Given the description of an element on the screen output the (x, y) to click on. 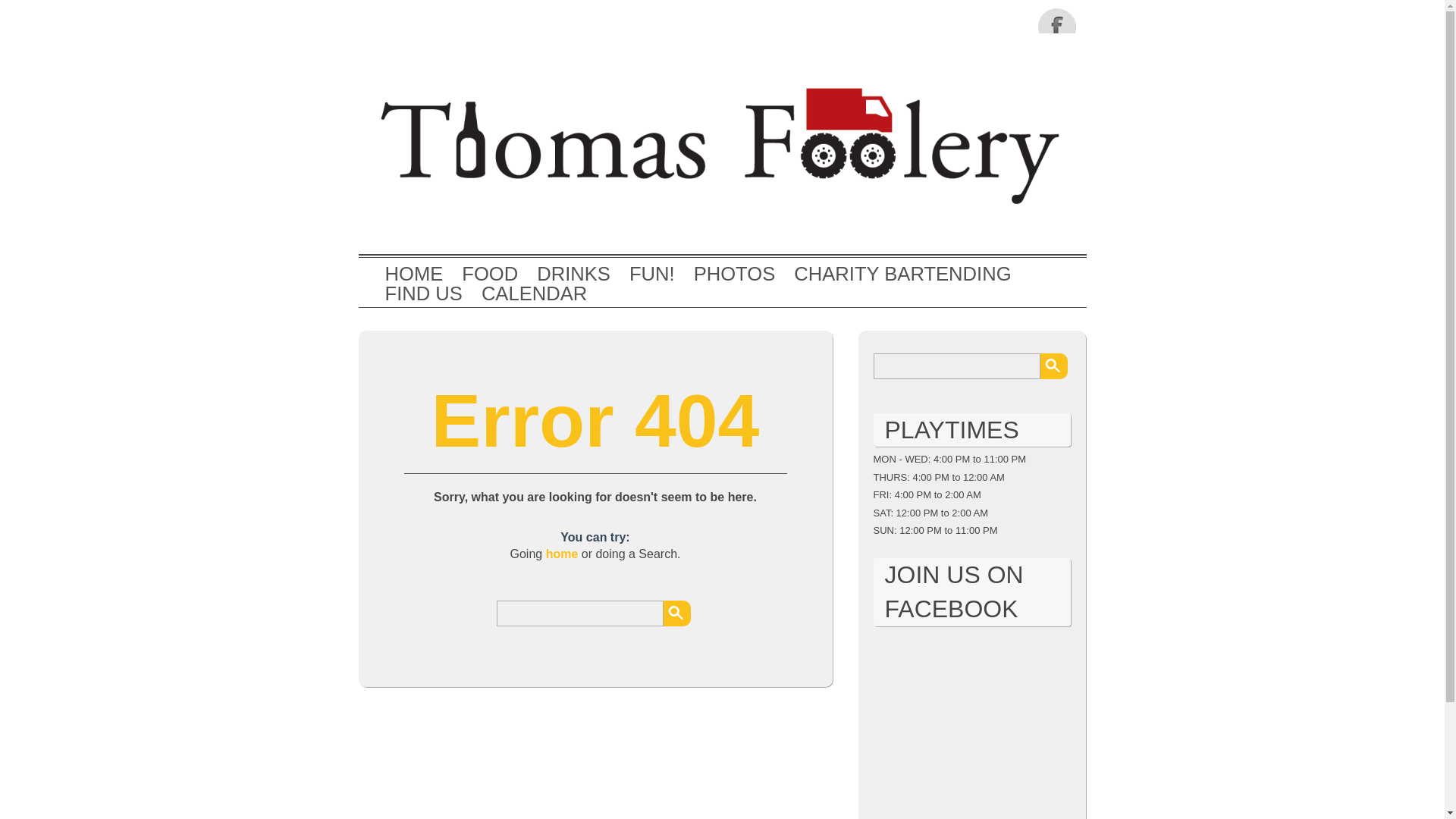
Search (676, 613)
Search (1054, 365)
FUN! (651, 274)
HOME (414, 274)
CALENDAR (533, 293)
Search (1054, 365)
PHOTOS (735, 274)
DRINKS (573, 274)
Facebook (1057, 26)
Search (676, 613)
home (562, 553)
FIND US (424, 293)
FOOD (489, 274)
CHARITY BARTENDING (901, 274)
